Given the description of an element on the screen output the (x, y) to click on. 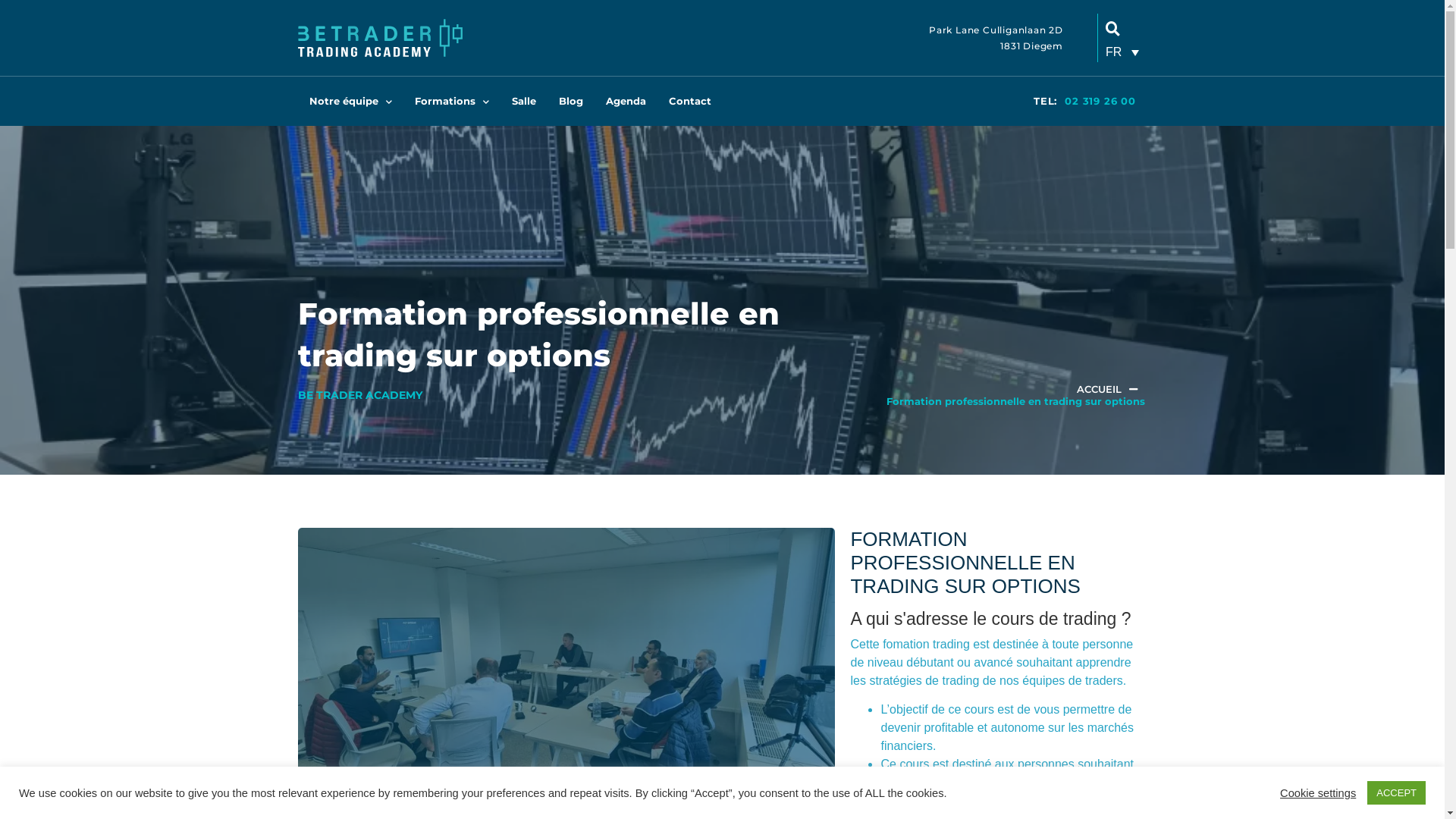
Formations Element type: text (451, 100)
Blog Element type: text (570, 100)
Agenda Element type: text (625, 100)
Cookie settings Element type: text (1317, 792)
Salle Element type: text (523, 100)
ACCUEIL Element type: text (1098, 389)
Contact Element type: text (688, 100)
ACCEPT Element type: text (1396, 792)
Formation professionnelle en trading sur options Element type: text (1015, 401)
02 319 26 00 Element type: text (1099, 100)
